Given the description of an element on the screen output the (x, y) to click on. 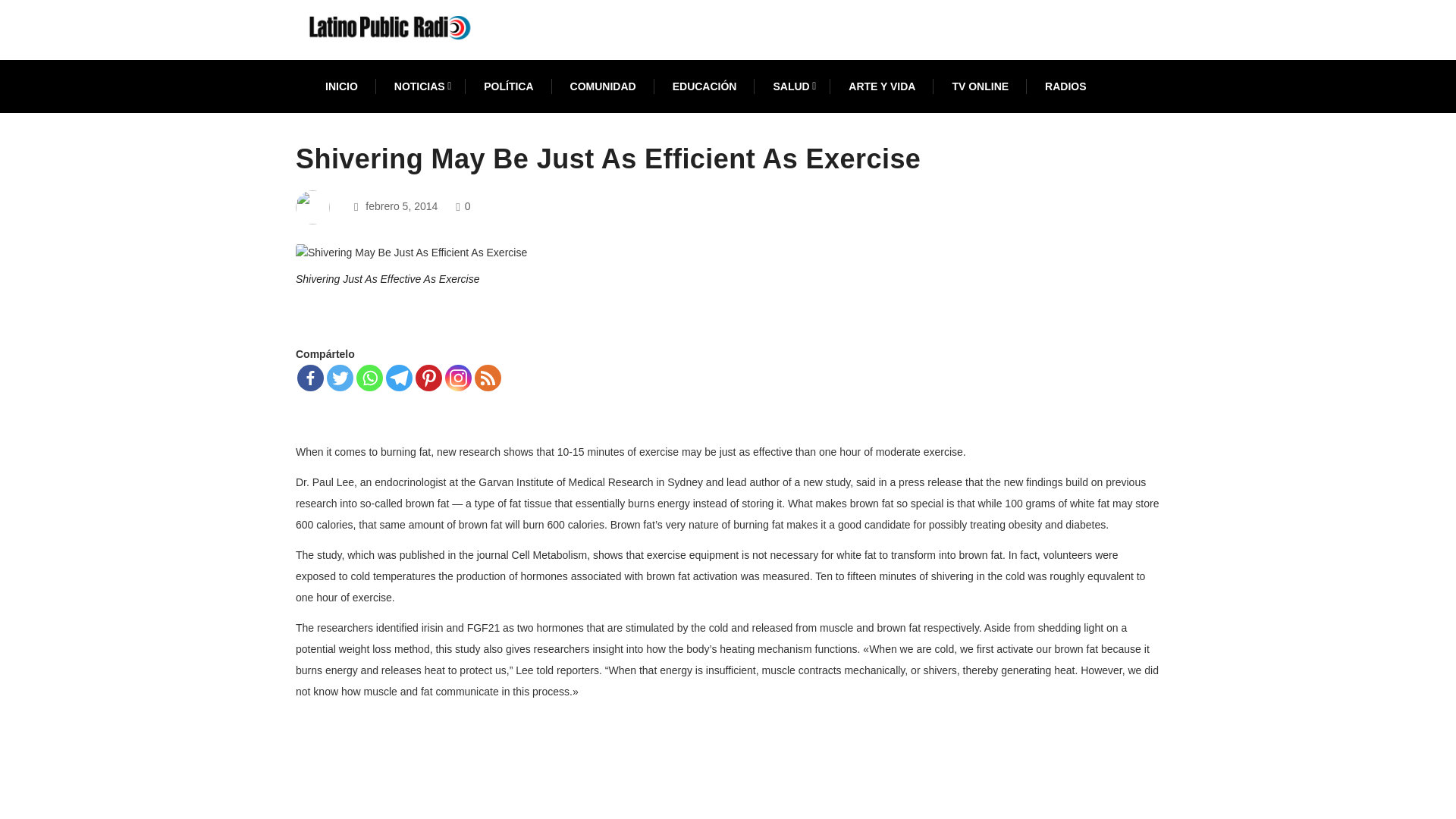
Telegram (398, 377)
NOTICIAS (420, 86)
COMUNIDAD (603, 86)
Pinterest (428, 377)
Facebook (310, 377)
Whatsapp (369, 377)
ARTE Y VIDA (881, 86)
Twitter (339, 377)
RSS Feed (487, 377)
TV ONLINE (980, 86)
